Given the description of an element on the screen output the (x, y) to click on. 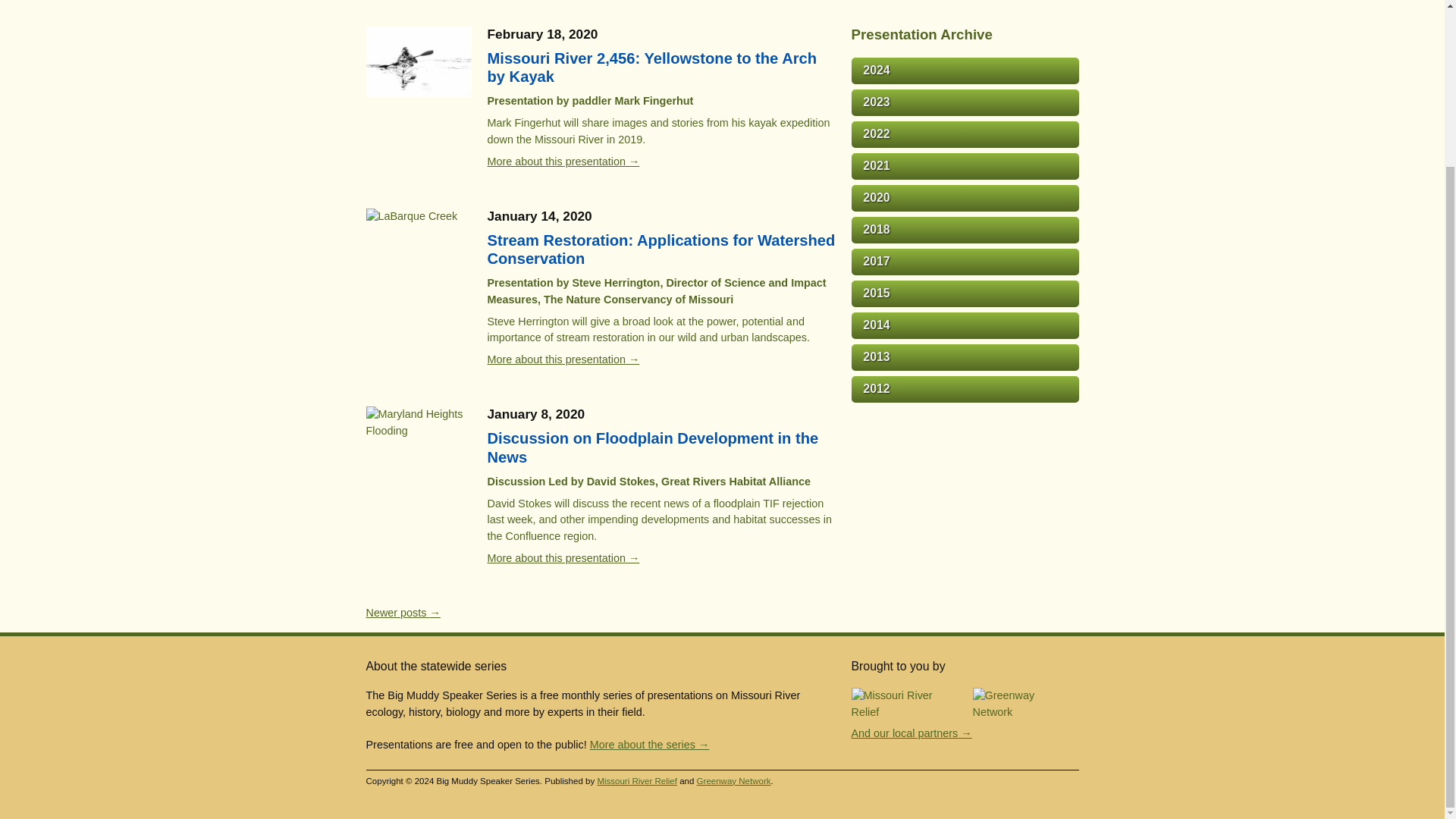
2023 (964, 102)
2021 (964, 166)
2013 (964, 357)
2017 (964, 261)
2020 (964, 198)
2024 (964, 70)
2015 (964, 293)
2022 (964, 134)
2014 (964, 325)
2012 (964, 388)
2018 (964, 230)
